Given the description of an element on the screen output the (x, y) to click on. 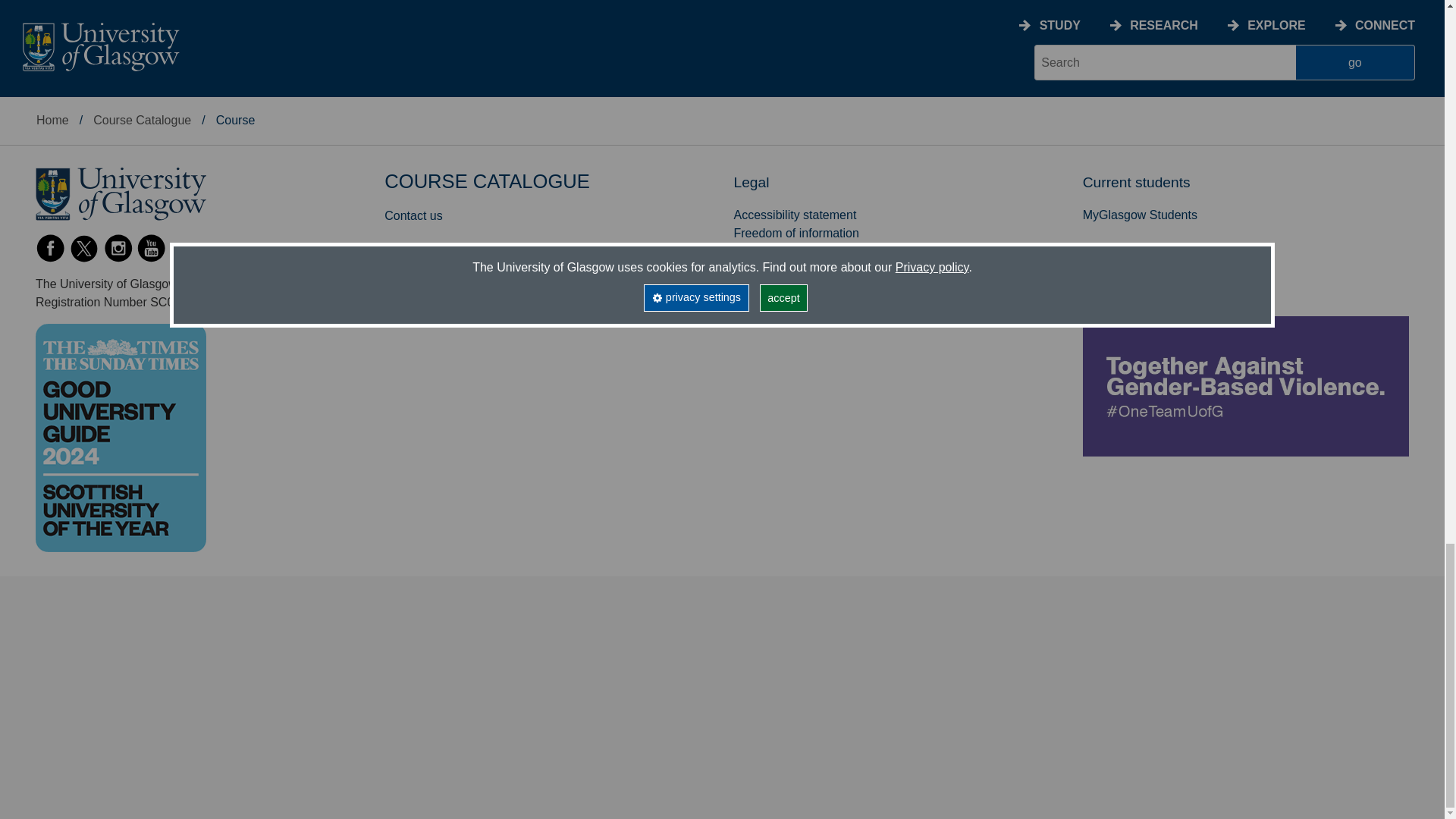
Student life (65, 6)
